Given the description of an element on the screen output the (x, y) to click on. 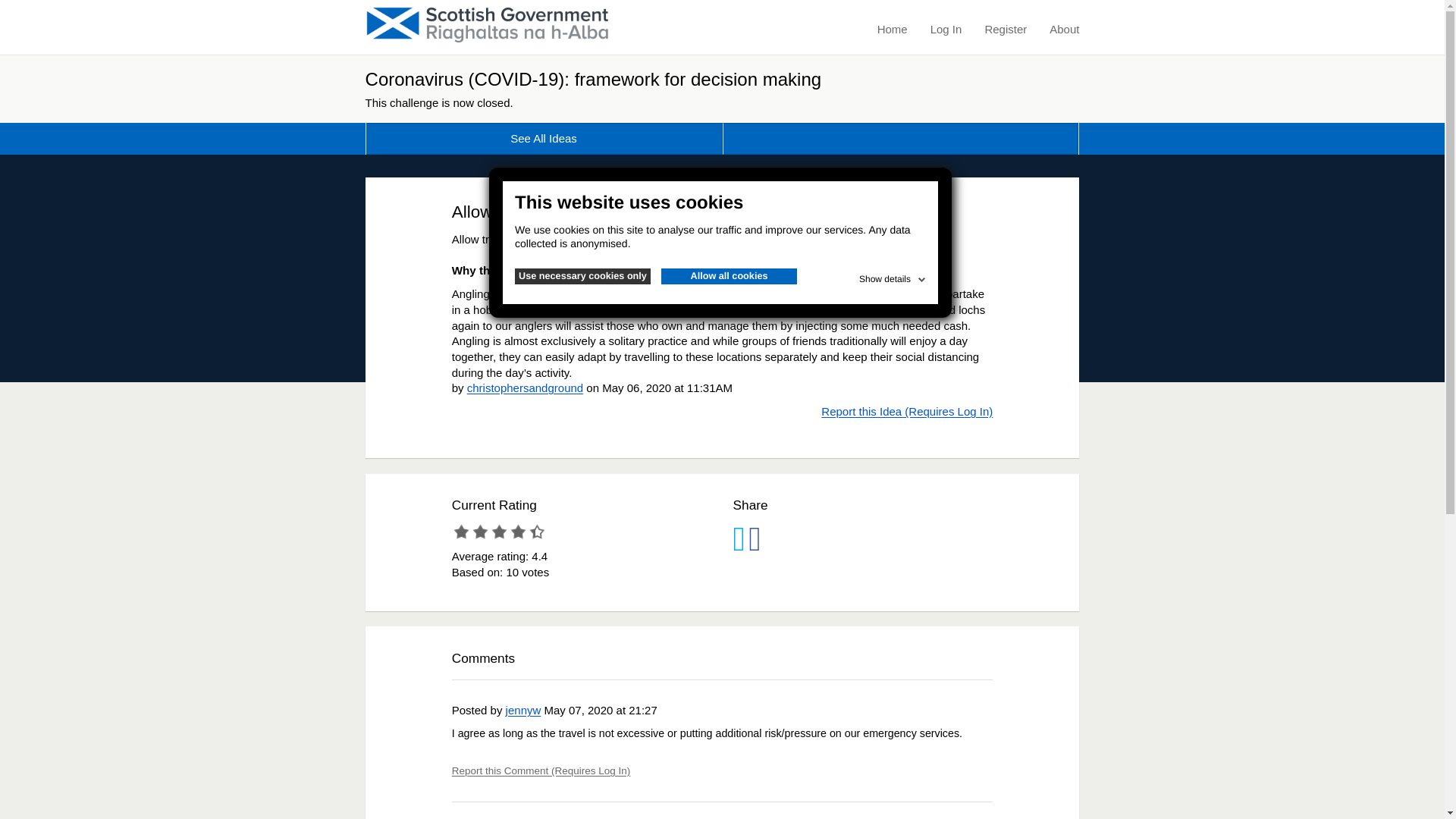
Allow all cookies (728, 276)
Show details (893, 276)
Use necessary cookies only (582, 276)
Home (892, 29)
